Given the description of an element on the screen output the (x, y) to click on. 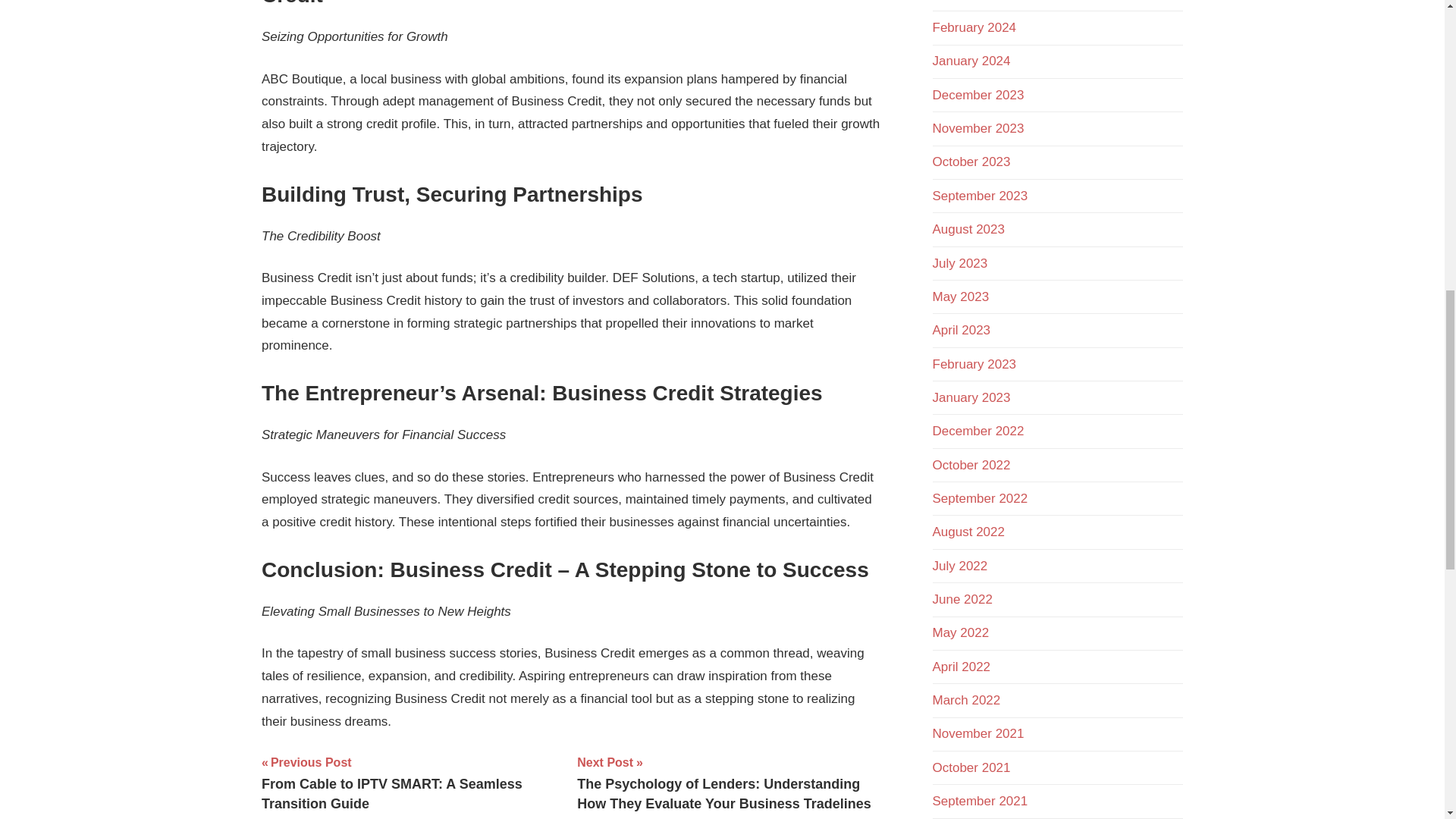
December 2023 (979, 94)
August 2022 (968, 531)
January 2024 (971, 60)
July 2022 (960, 565)
March 2022 (967, 699)
April 2022 (962, 667)
June 2022 (962, 599)
May 2023 (961, 296)
February 2024 (974, 27)
